Given the description of an element on the screen output the (x, y) to click on. 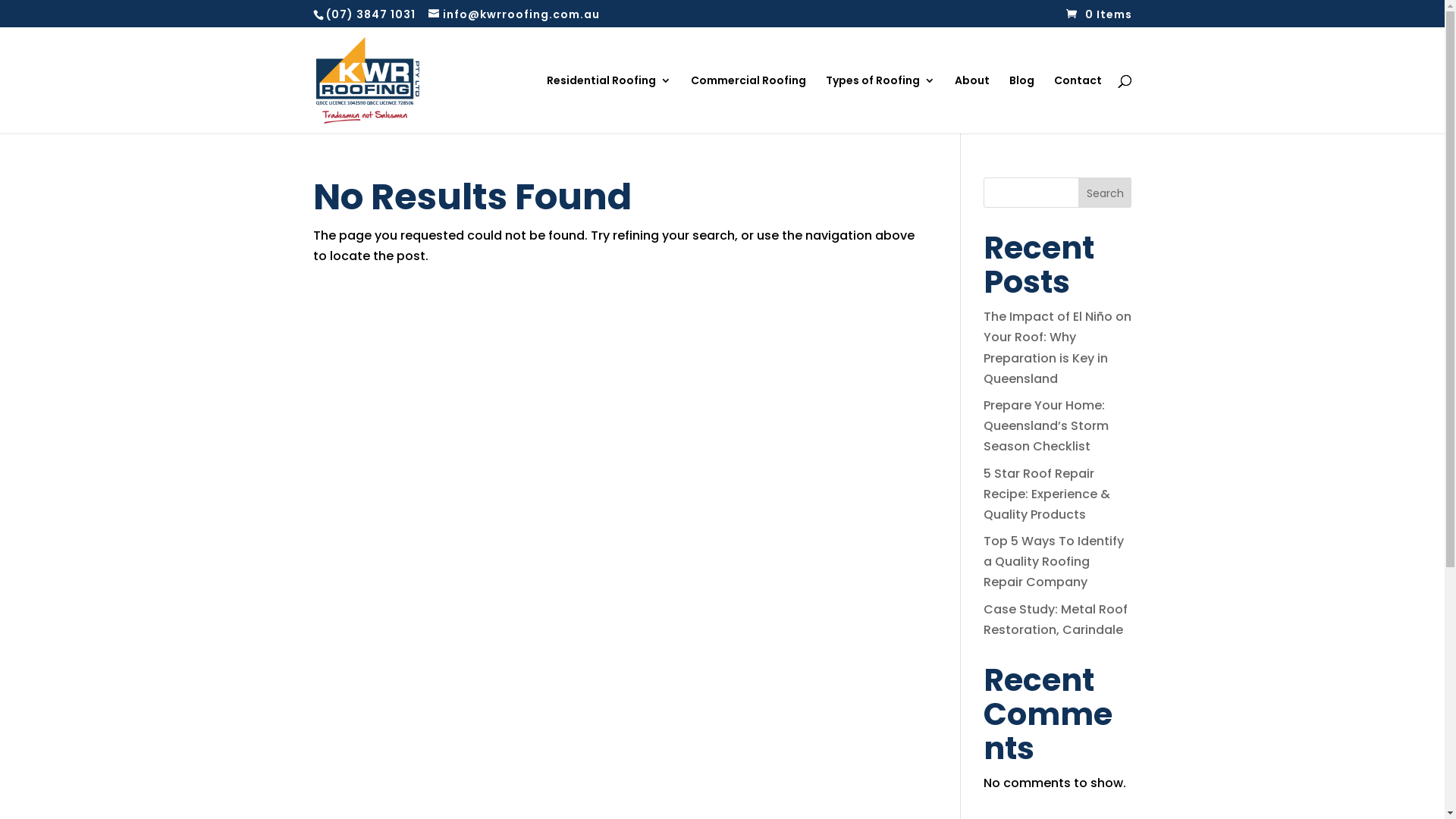
Types of Roofing Element type: text (879, 104)
About Element type: text (970, 104)
Search Element type: text (1105, 192)
0 Items Element type: text (1099, 13)
Residential Roofing Element type: text (608, 104)
Blog Element type: text (1020, 104)
Top 5 Ways To Identify a Quality Roofing Repair Company Element type: text (1053, 561)
5 Star Roof Repair Recipe: Experience & Quality Products  Element type: text (1046, 493)
Commercial Roofing Element type: text (747, 104)
(07) 3847 1031 Element type: text (370, 13)
Case Study: Metal Roof Restoration, Carindale Element type: text (1055, 619)
Contact Element type: text (1077, 104)
info@kwrroofing.com.au Element type: text (513, 13)
